Given the description of an element on the screen output the (x, y) to click on. 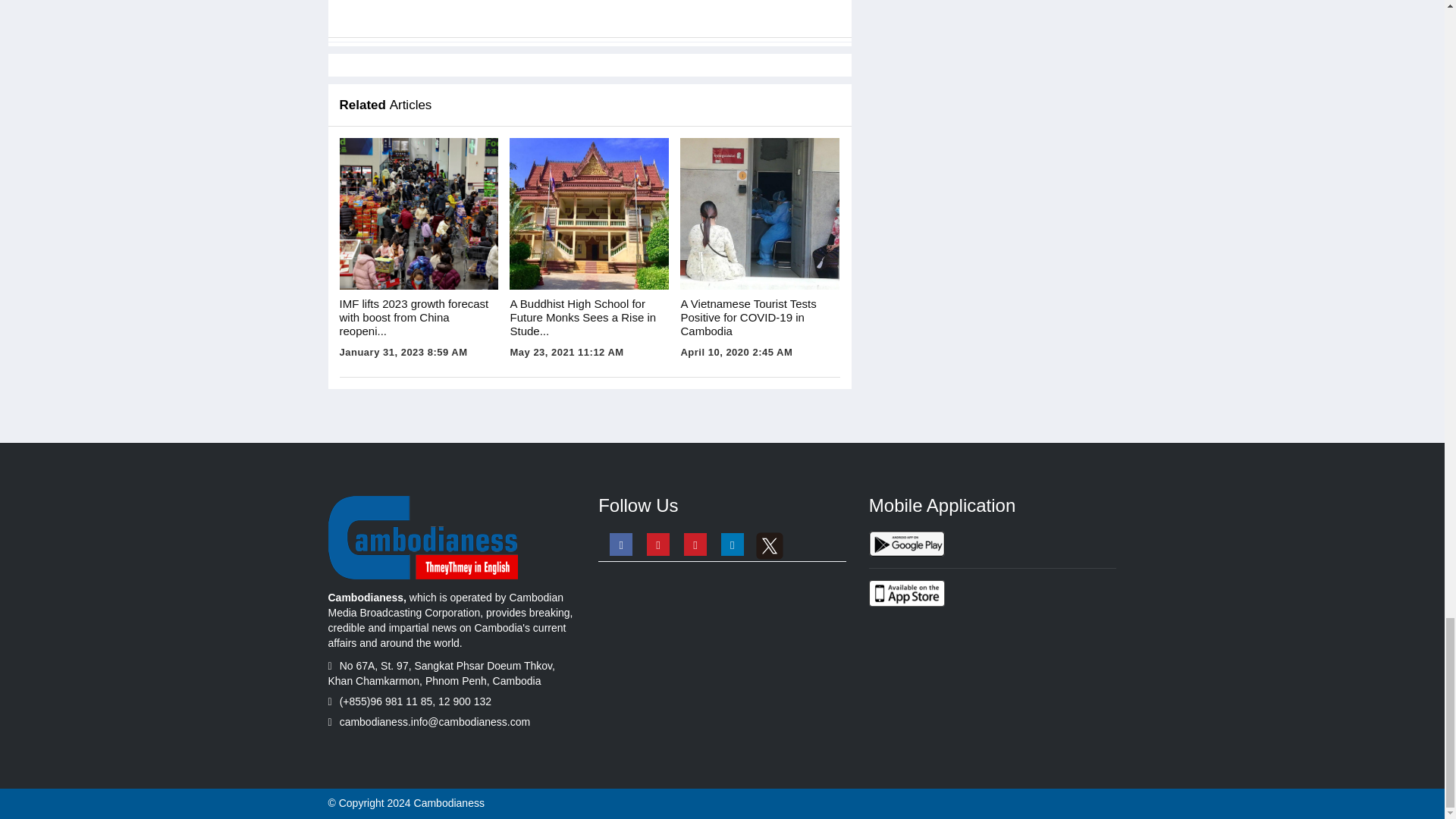
A Vietnamese Tourist Tests Positive for COVID-19 in Cambodia (759, 213)
